Given the description of an element on the screen output the (x, y) to click on. 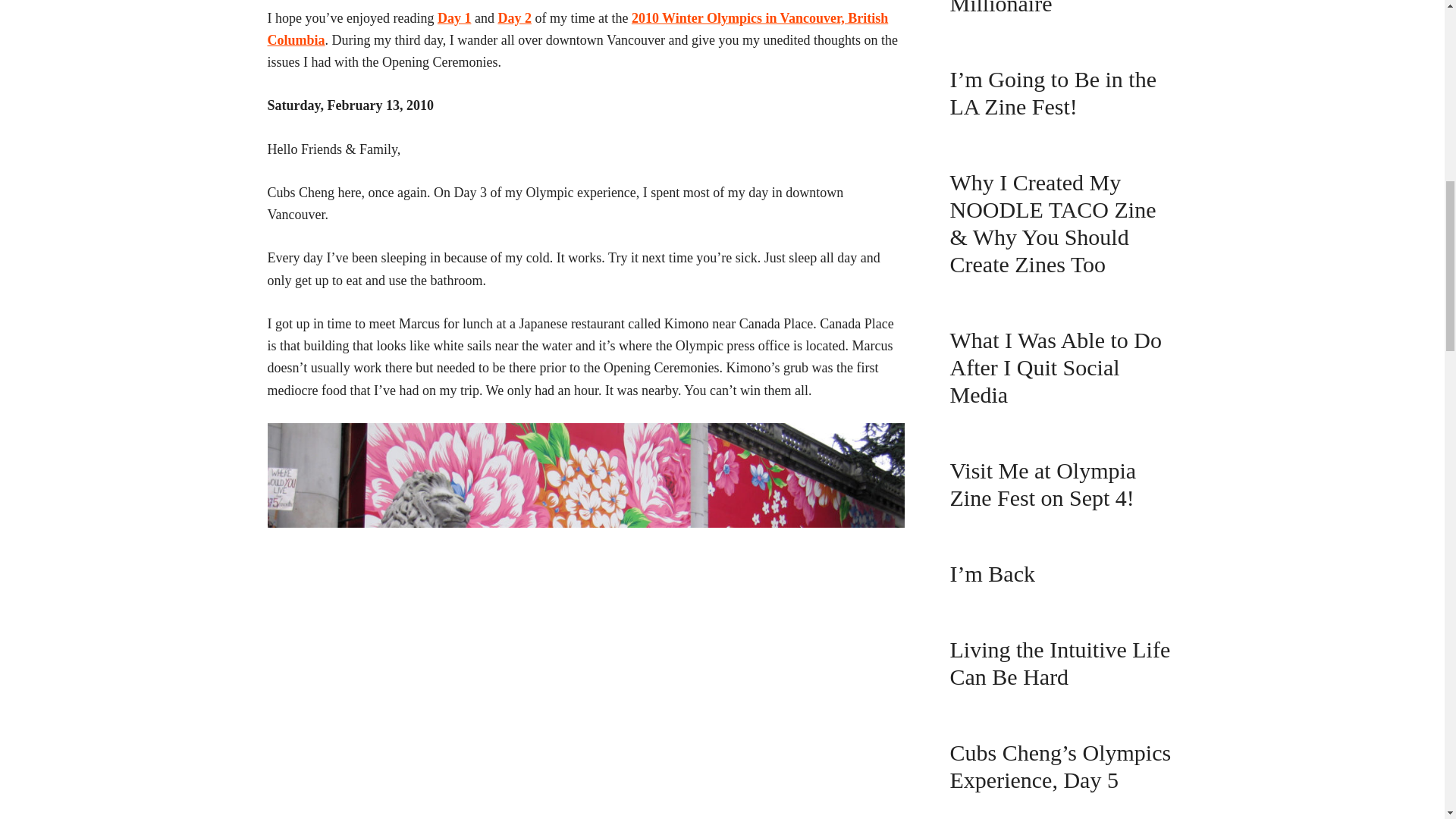
What I Was Able to Do After I Quit Social Media (1054, 367)
2010 Winter Olympics in Vancouver, British Columbia (577, 28)
Day 2 (514, 17)
Day 1 (454, 17)
Living the Intuitive Life Can Be Hard (1059, 663)
Visit Me at Olympia Zine Fest on Sept 4! (1042, 483)
How a Blue Butterfly Helped Me Write Rebel Millionaire (1057, 7)
